Given the description of an element on the screen output the (x, y) to click on. 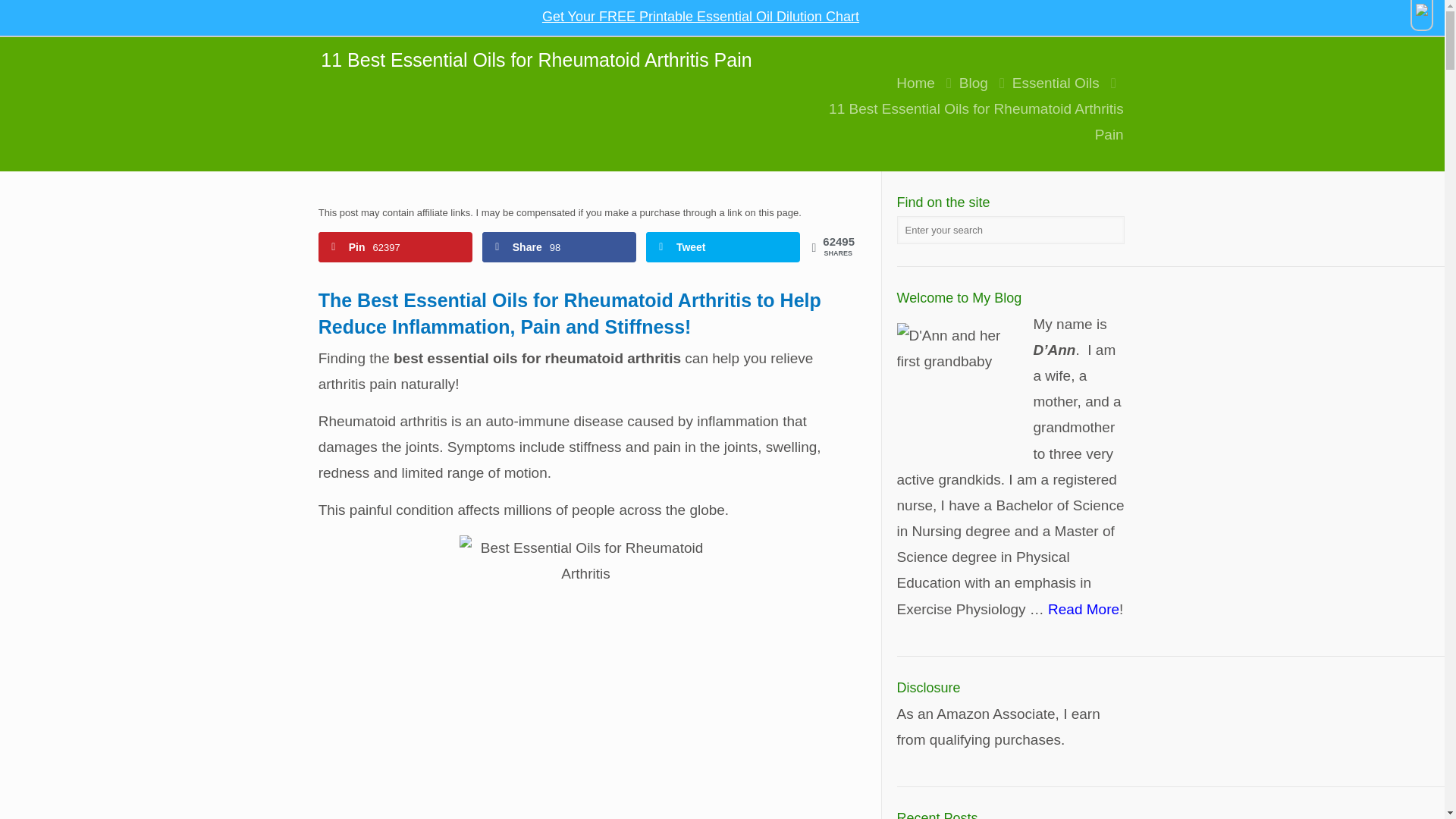
Blog (973, 82)
Essential Oils (1055, 82)
Home (915, 82)
Share98 (558, 246)
Tweet (722, 246)
11 Best Essential Oils for Rheumatoid Arthritis Pain (976, 121)
Pin62397 (394, 246)
